Given the description of an element on the screen output the (x, y) to click on. 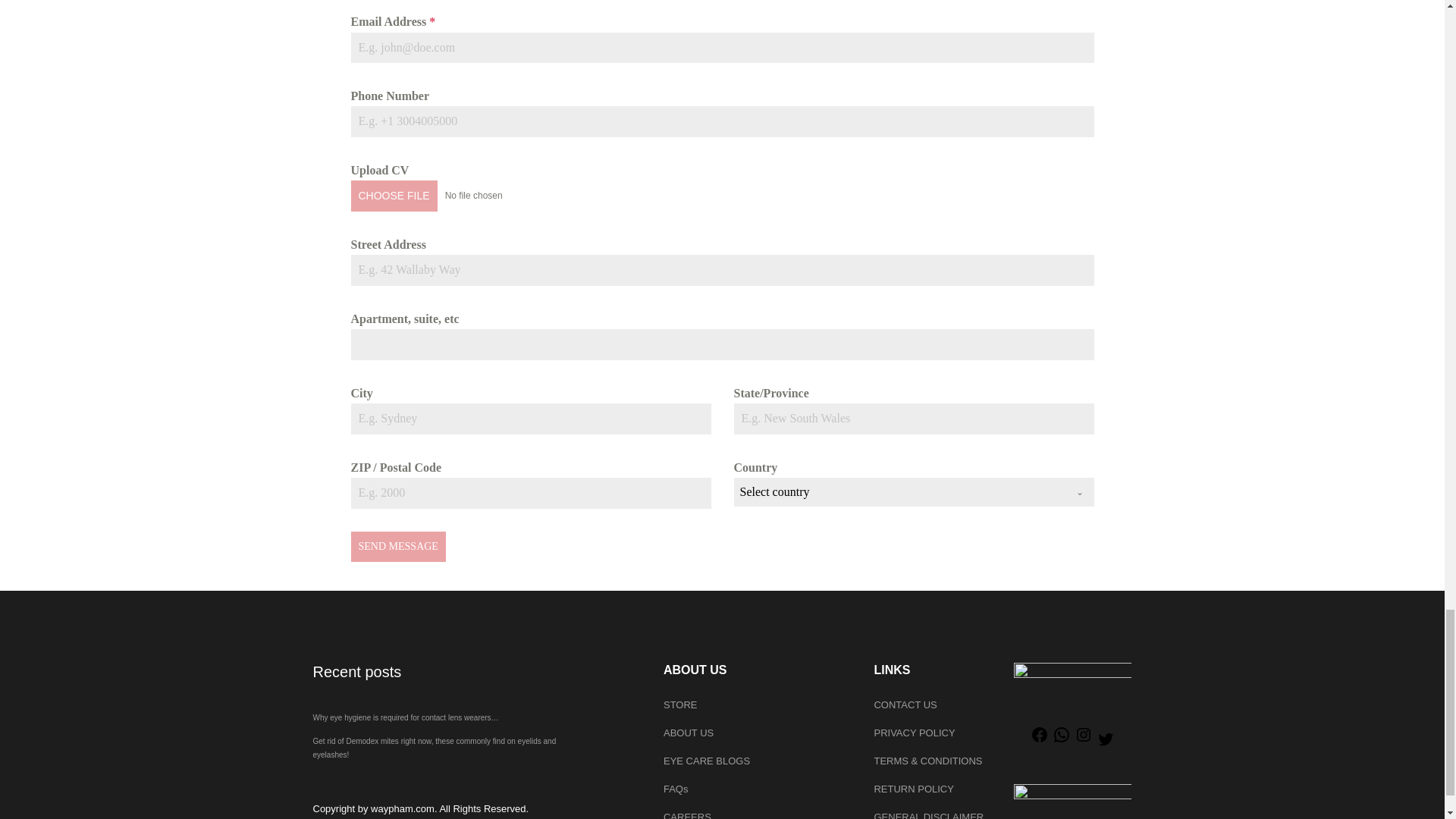
SEND MESSAGE (397, 546)
Select country (899, 491)
CHOOSE FILE (393, 195)
STORE (757, 705)
